Given the description of an element on the screen output the (x, y) to click on. 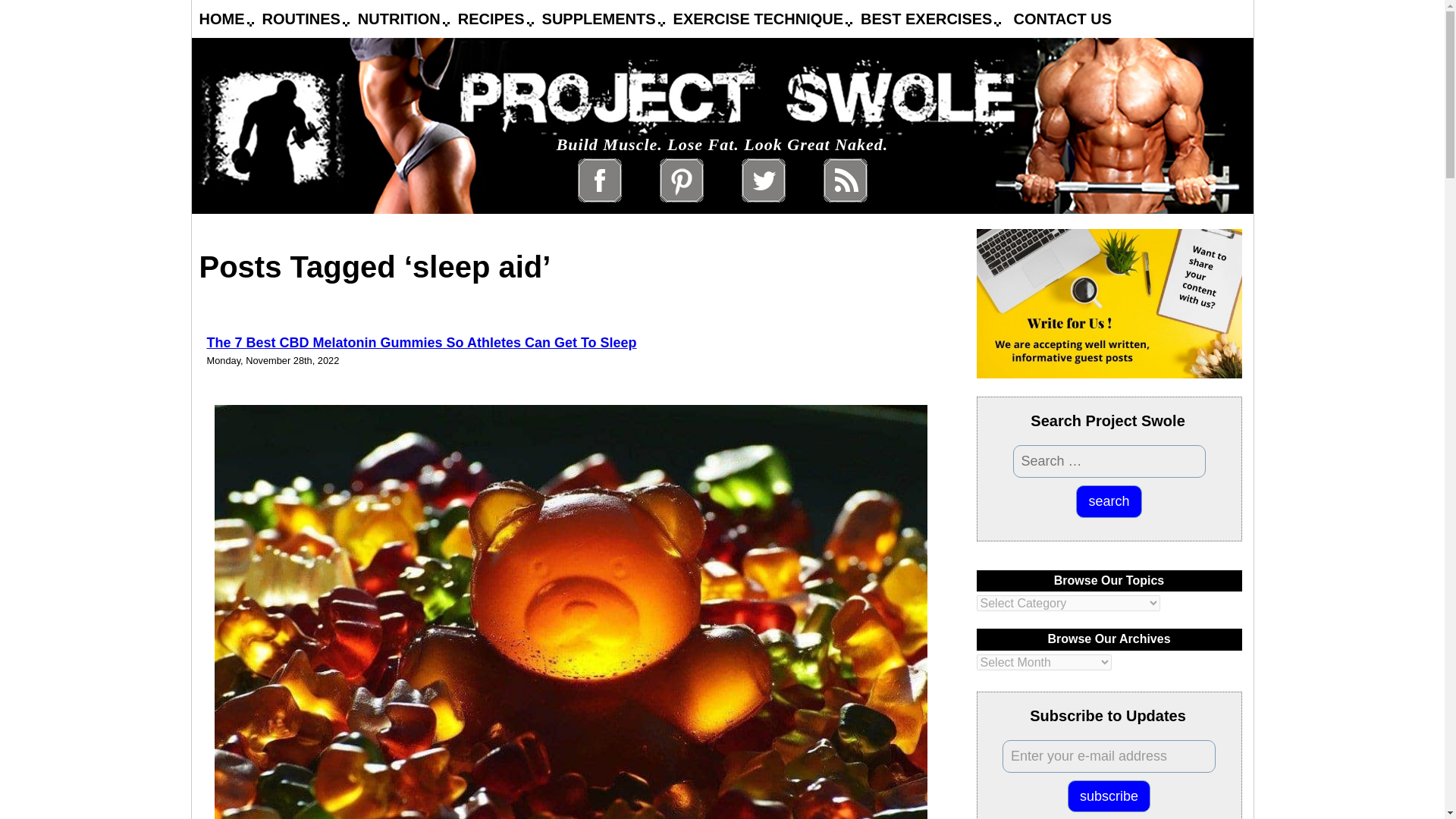
Search (1108, 501)
ROUTINES (301, 18)
subscribe (1108, 795)
NUTRITION (399, 18)
HOME (221, 18)
RECIPES (491, 18)
Enter your e-mail address (1109, 756)
Search (1108, 501)
